Given the description of an element on the screen output the (x, y) to click on. 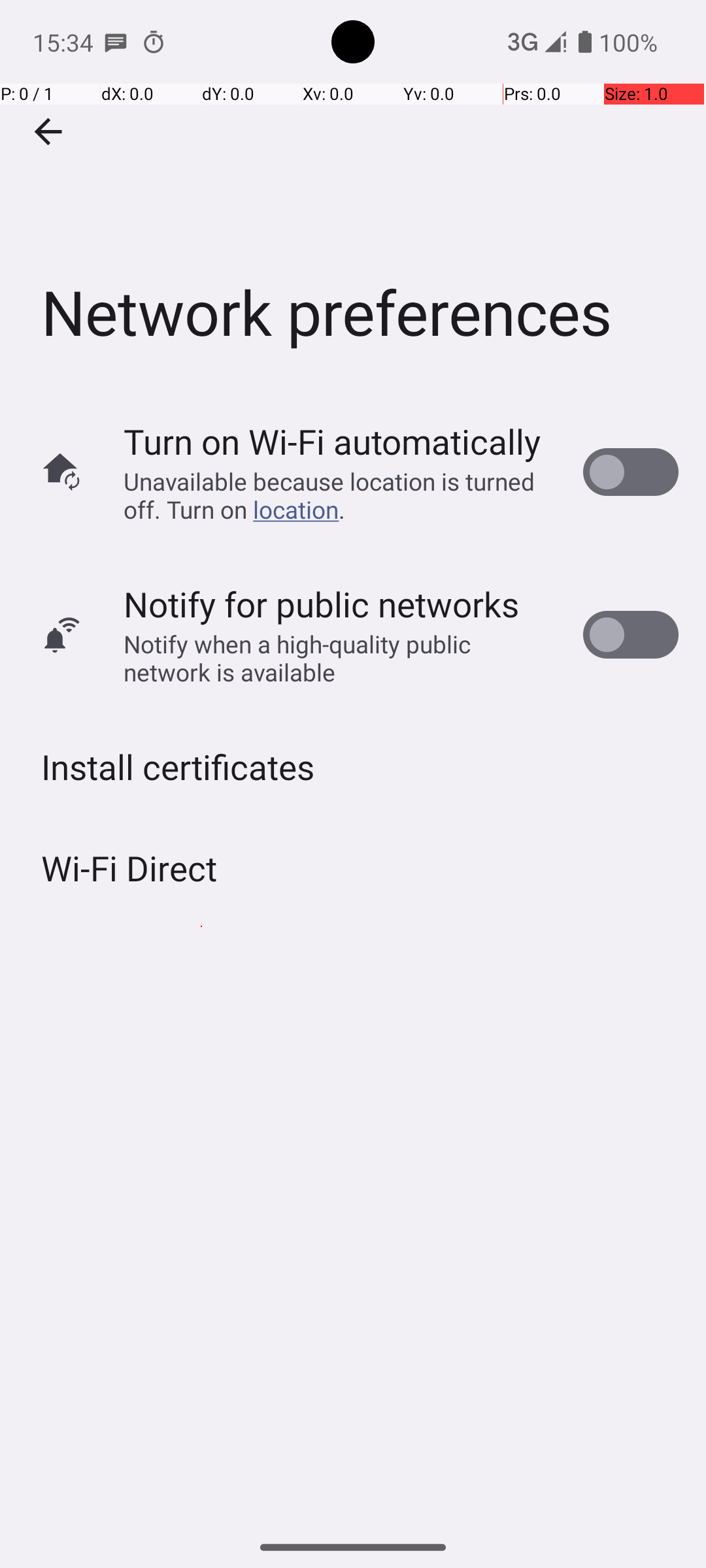
Network preferences Element type: android.widget.FrameLayout (353, 195)
Turn on Wi‑Fi automatically Element type: android.widget.TextView (332, 441)
Unavailable because location is turned off. Turn on location. Element type: android.widget.TextView (339, 494)
Notify for public networks Element type: android.widget.TextView (321, 603)
Notify when a high‑quality public network is available Element type: android.widget.TextView (339, 657)
Install certificates Element type: android.widget.TextView (178, 766)
Wi‑Fi Direct Element type: android.widget.TextView (129, 867)
